Given the description of an element on the screen output the (x, y) to click on. 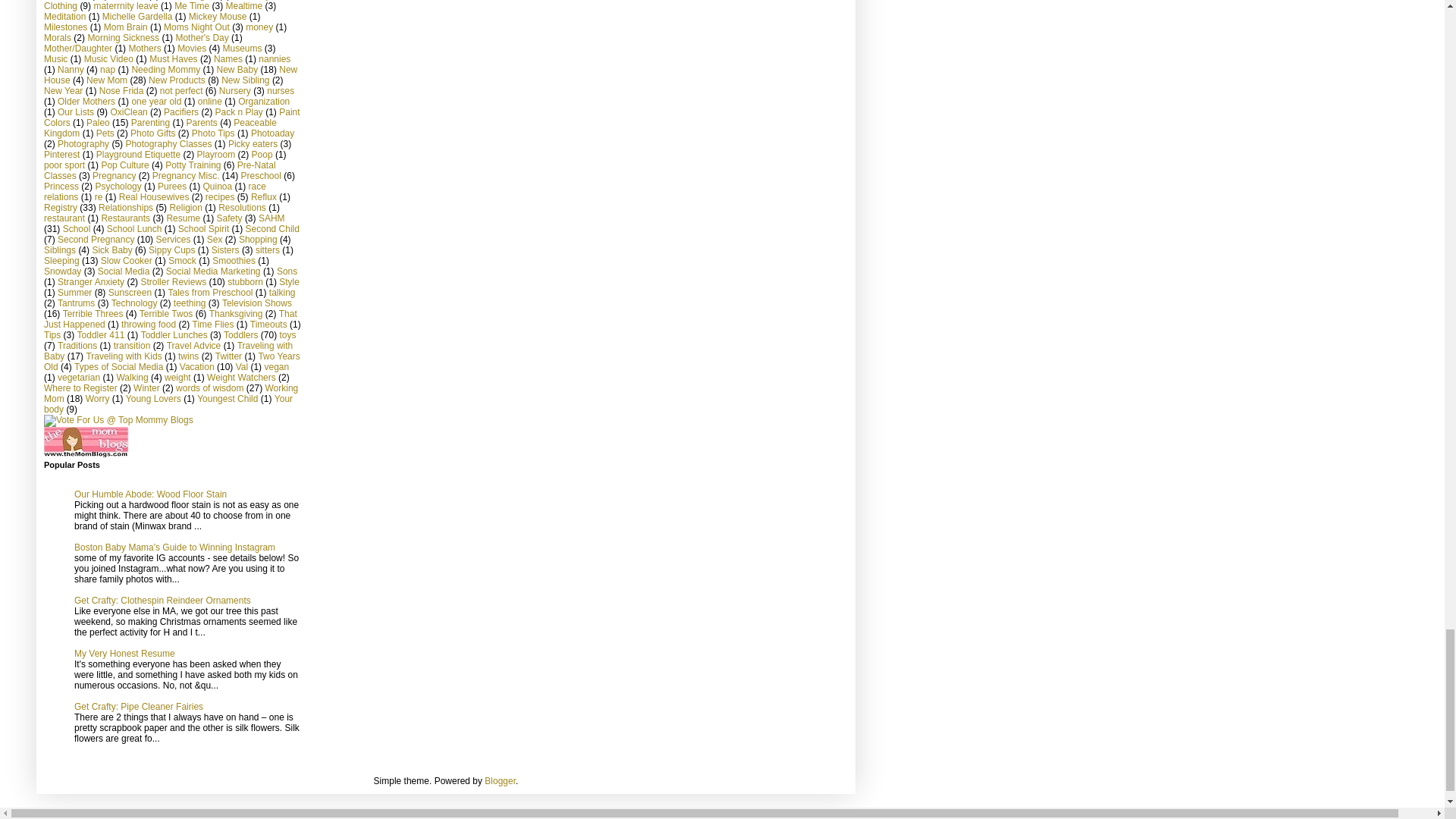
popular mommy bloggers (118, 419)
